Given the description of an element on the screen output the (x, y) to click on. 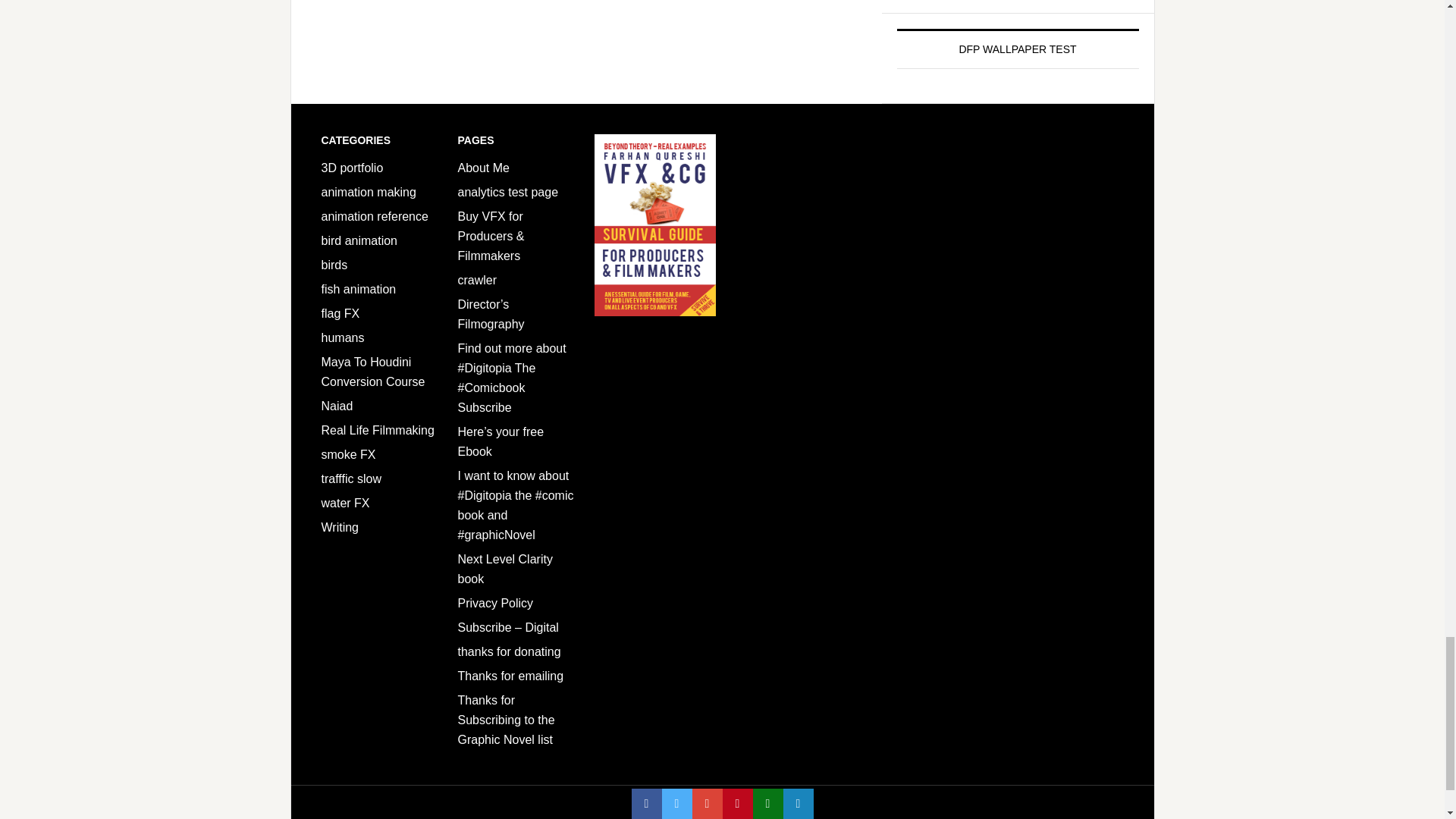
Real life writing articles (340, 526)
Real practical advice on how to make your own animated films (368, 192)
Home of the original Maya to Houdini Conversion Course (373, 371)
Film making in the real world (377, 430)
